Given the description of an element on the screen output the (x, y) to click on. 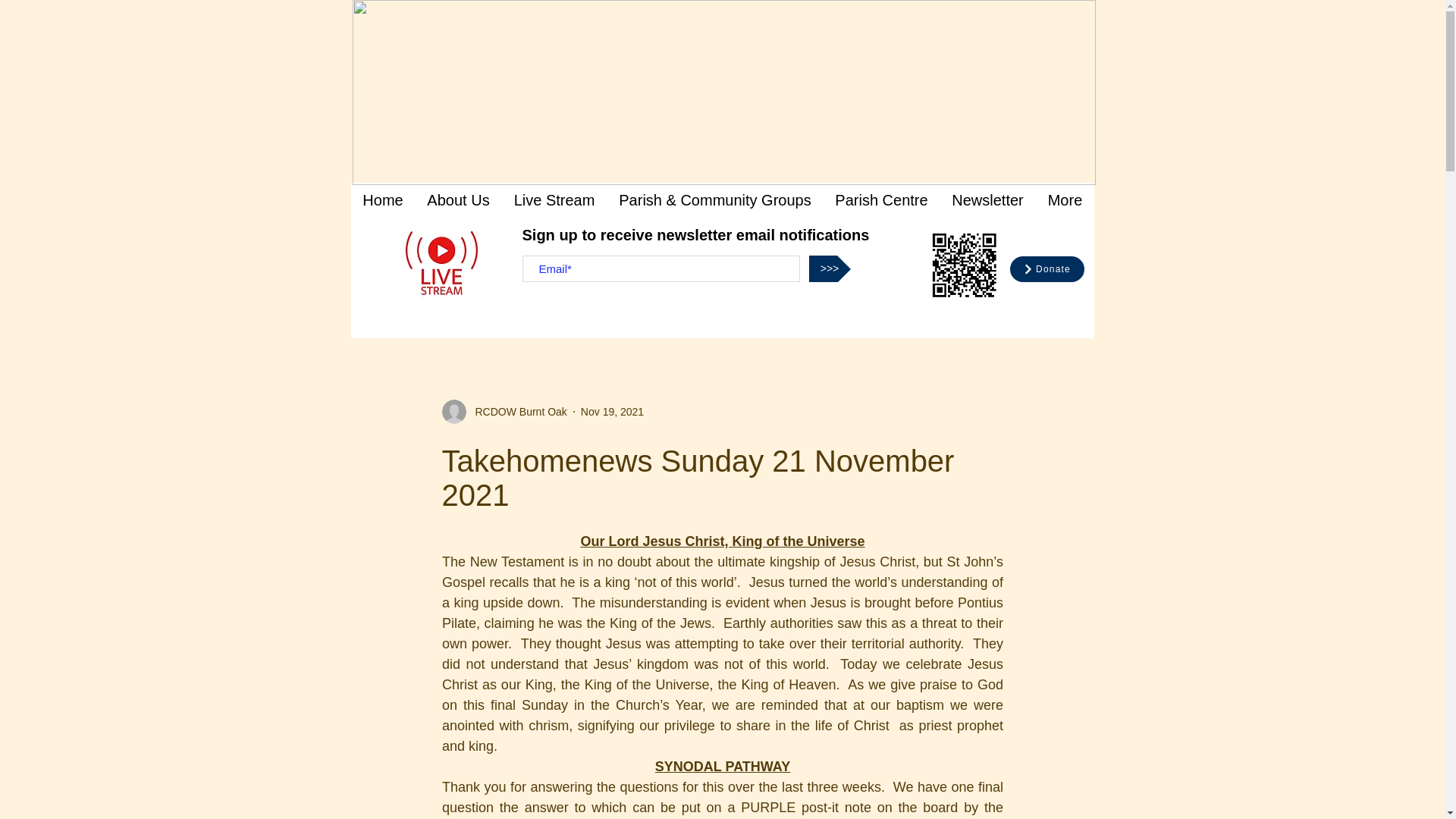
Nov 19, 2021 (611, 410)
Home (382, 200)
Parish Centre (882, 200)
Newsletter (987, 200)
Donate (1046, 268)
Live Stream (554, 200)
RCDOW Burnt Oak (515, 411)
